Given the description of an element on the screen output the (x, y) to click on. 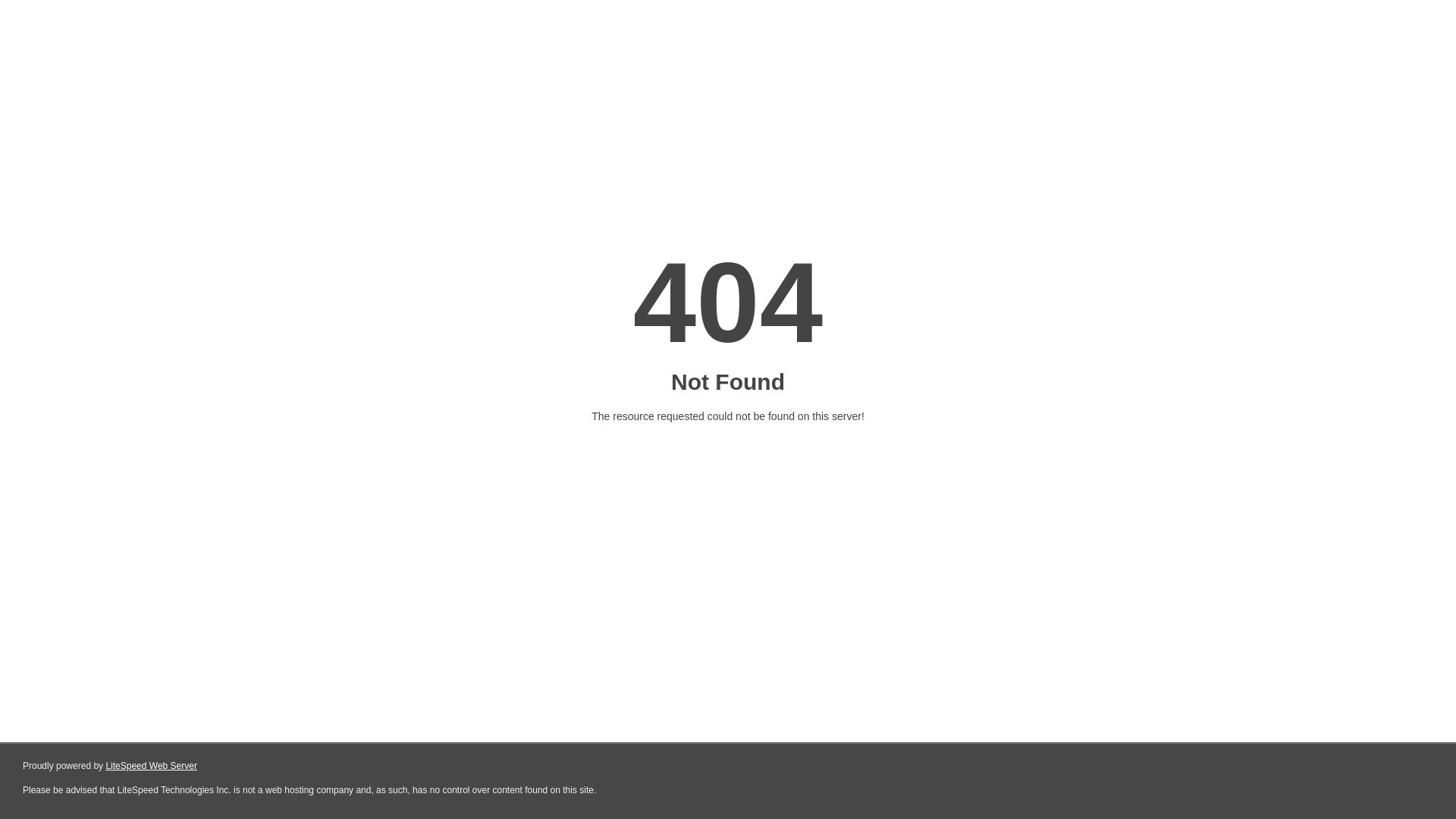
LiteSpeed Web Server Element type: text (151, 765)
